Given the description of an element on the screen output the (x, y) to click on. 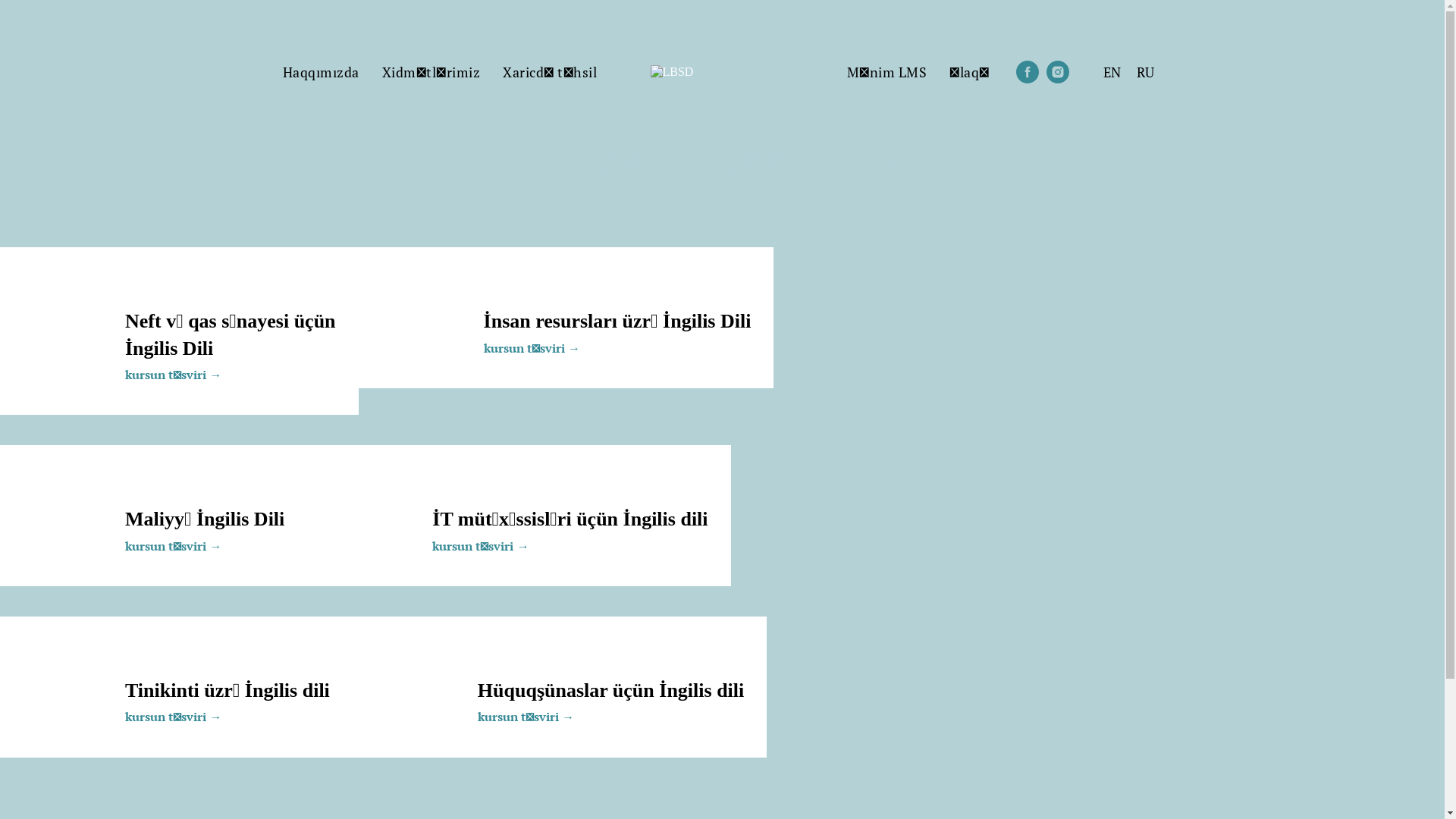
EN Element type: text (1111, 71)
RU Element type: text (1144, 71)
